Given the description of an element on the screen output the (x, y) to click on. 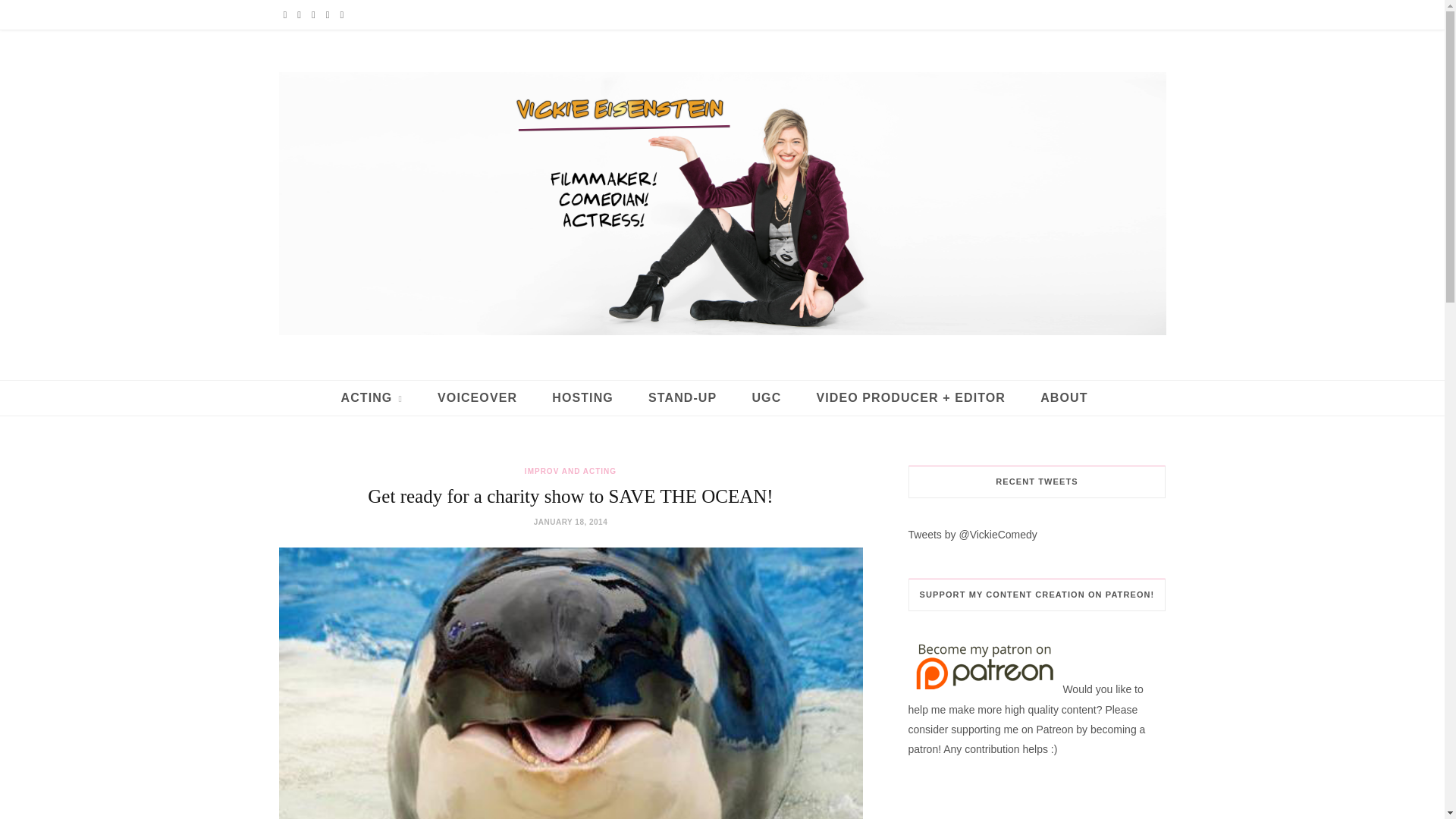
JANUARY 18, 2014 (571, 521)
IMPROV AND ACTING (569, 470)
VOICEOVER (477, 398)
HOSTING (581, 398)
STAND-UP (681, 398)
ABOUT (1064, 398)
ACTING (370, 398)
UGC (765, 398)
